Given the description of an element on the screen output the (x, y) to click on. 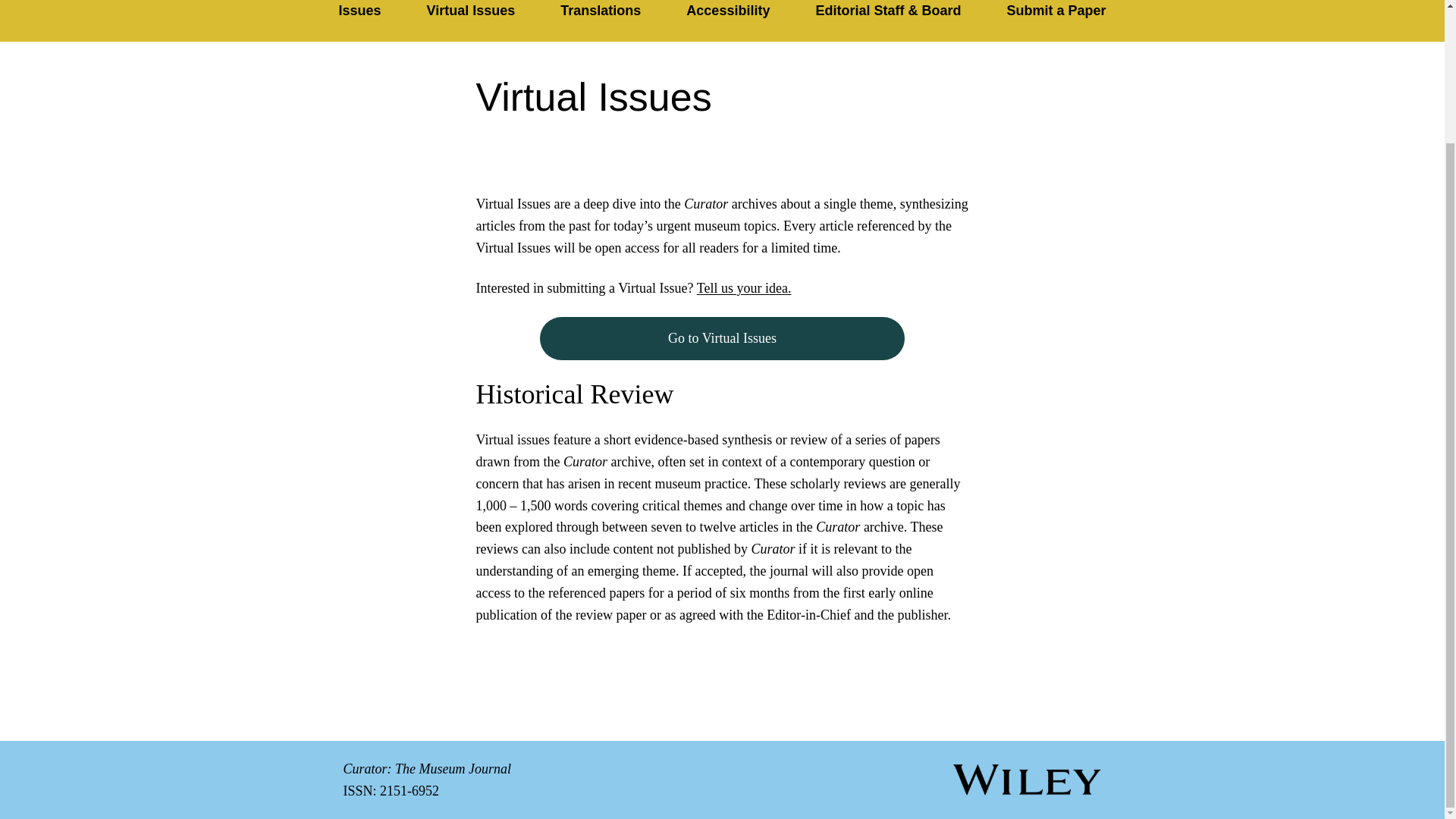
Virtual Issues (471, 13)
Issues (359, 13)
Translations (600, 13)
Tell us your idea. (744, 287)
Accessibility (727, 13)
Go to Virtual Issues (722, 338)
Submit a Paper (1055, 13)
